Given the description of an element on the screen output the (x, y) to click on. 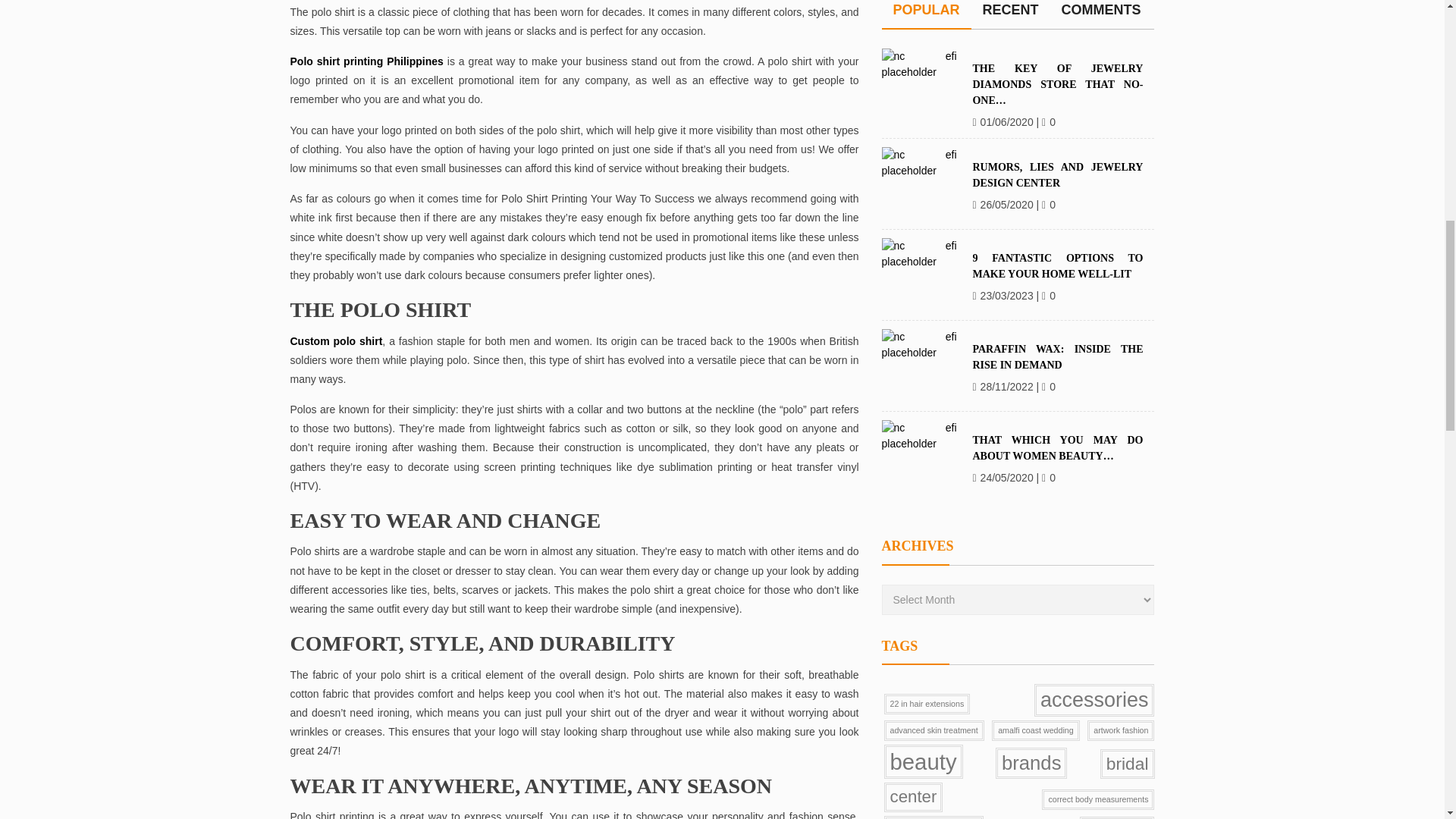
Custom polo shirt (335, 340)
Polo shirt printing Philippines (365, 61)
